Given the description of an element on the screen output the (x, y) to click on. 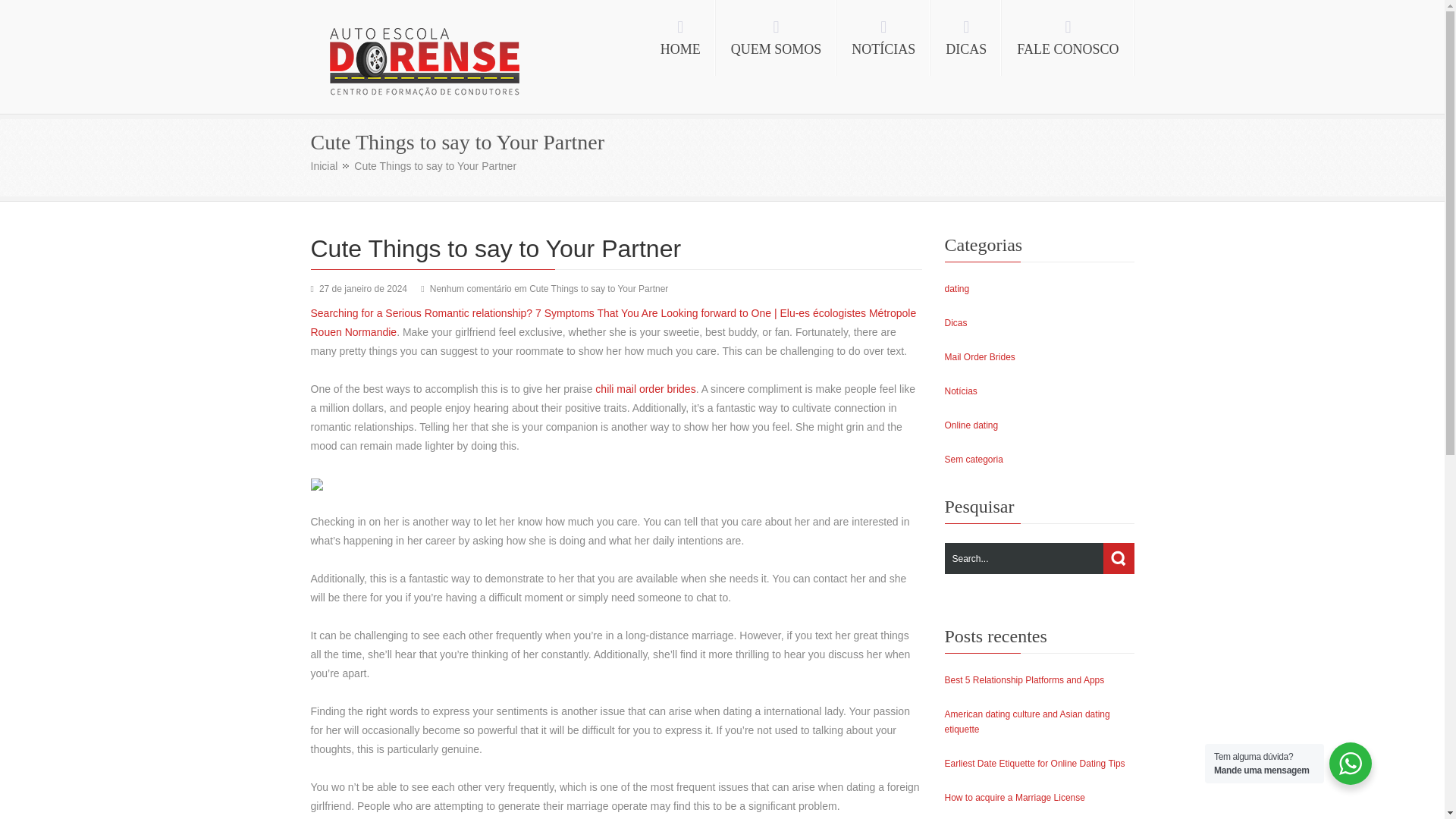
Sem categoria (973, 459)
Online dating (971, 425)
Mail Order Brides (979, 357)
Dicas (956, 322)
dating (956, 288)
How to acquire a Marriage License (1014, 797)
QUEM SOMOS (776, 38)
Inicial (330, 165)
American dating culture and Asian dating etiquette (1026, 721)
Best 5 Relationship Platforms and Apps (1024, 679)
